Given the description of an element on the screen output the (x, y) to click on. 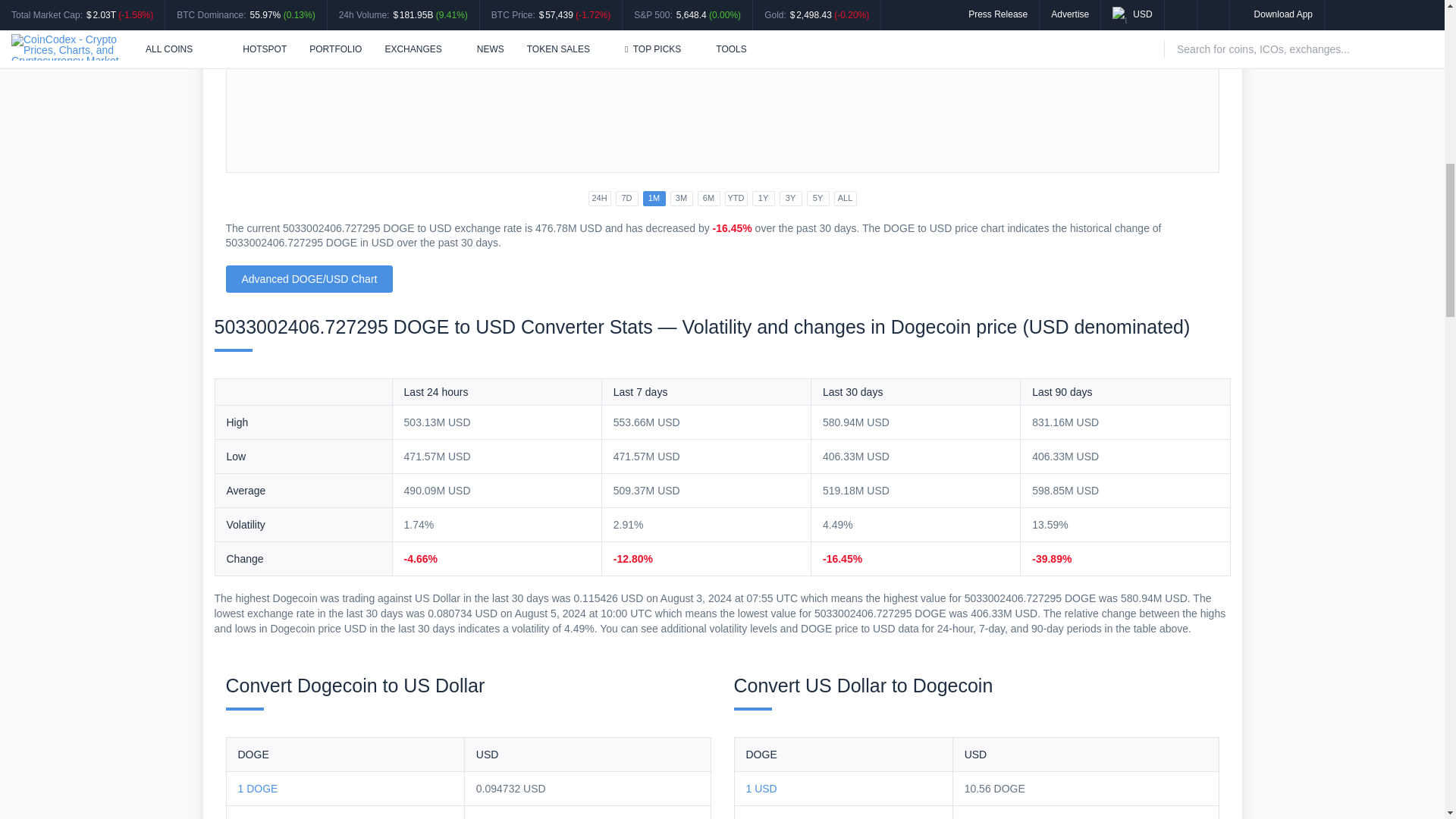
1 DOGE (258, 788)
5 DOGE (258, 817)
5 USD (761, 817)
1 USD (761, 788)
